Given the description of an element on the screen output the (x, y) to click on. 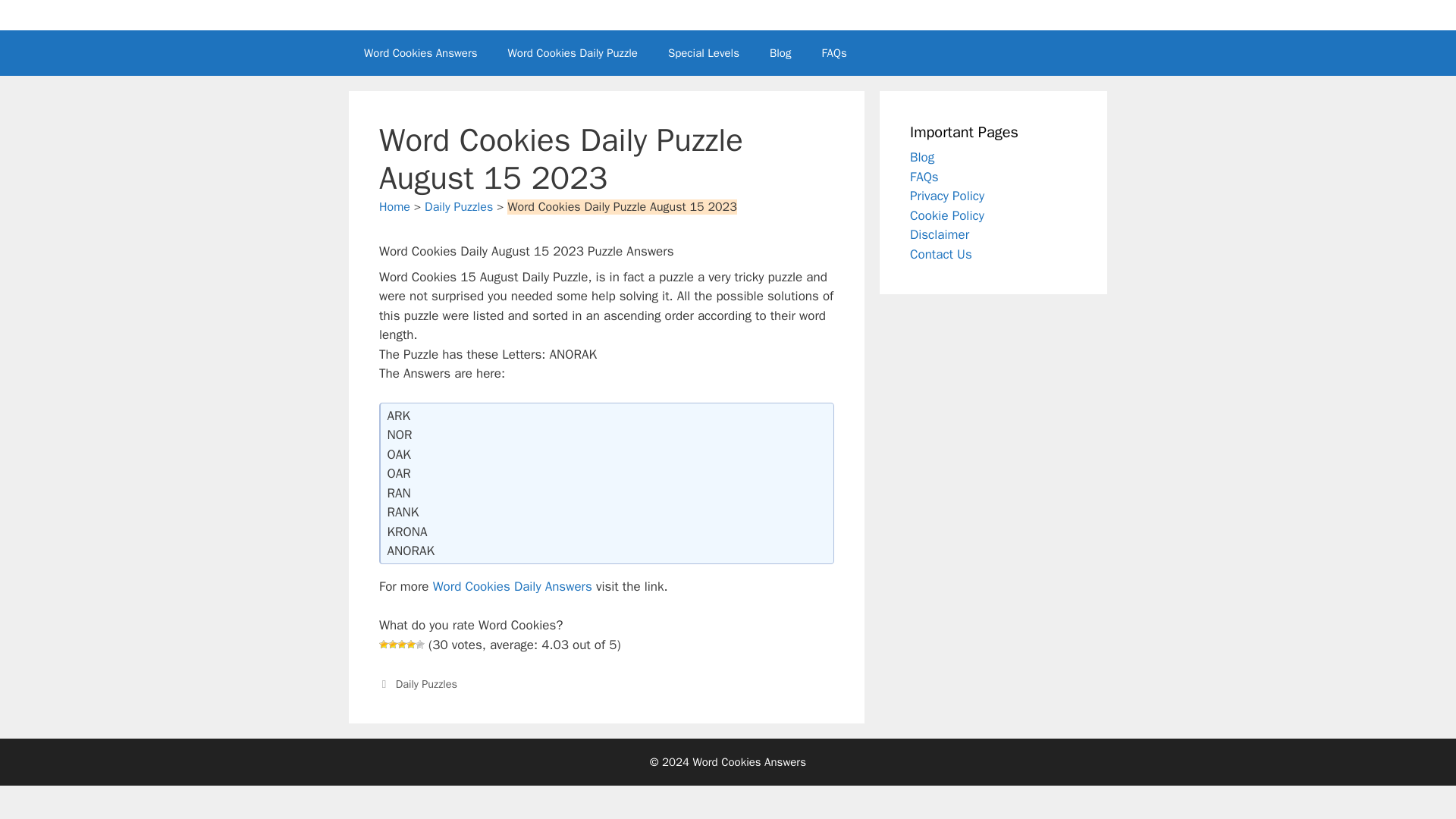
Word Cookies Daily Puzzle (572, 53)
Daily Puzzles (426, 684)
Blog (780, 53)
2 Stars (392, 644)
FAQs (924, 176)
Privacy Policy (947, 195)
Disclaimer (939, 234)
5 Stars (419, 644)
Home (394, 206)
Contact Us (941, 253)
1 Star (383, 644)
3 Stars (401, 644)
Word Cookies Answers (421, 53)
Blog (922, 157)
Daily Puzzles (459, 206)
